Given the description of an element on the screen output the (x, y) to click on. 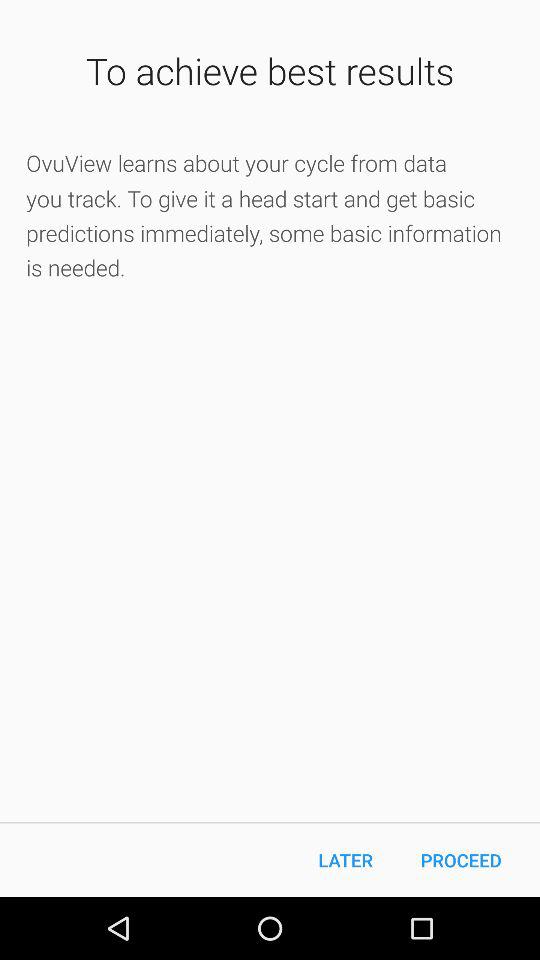
choose the item next to later (461, 859)
